Given the description of an element on the screen output the (x, y) to click on. 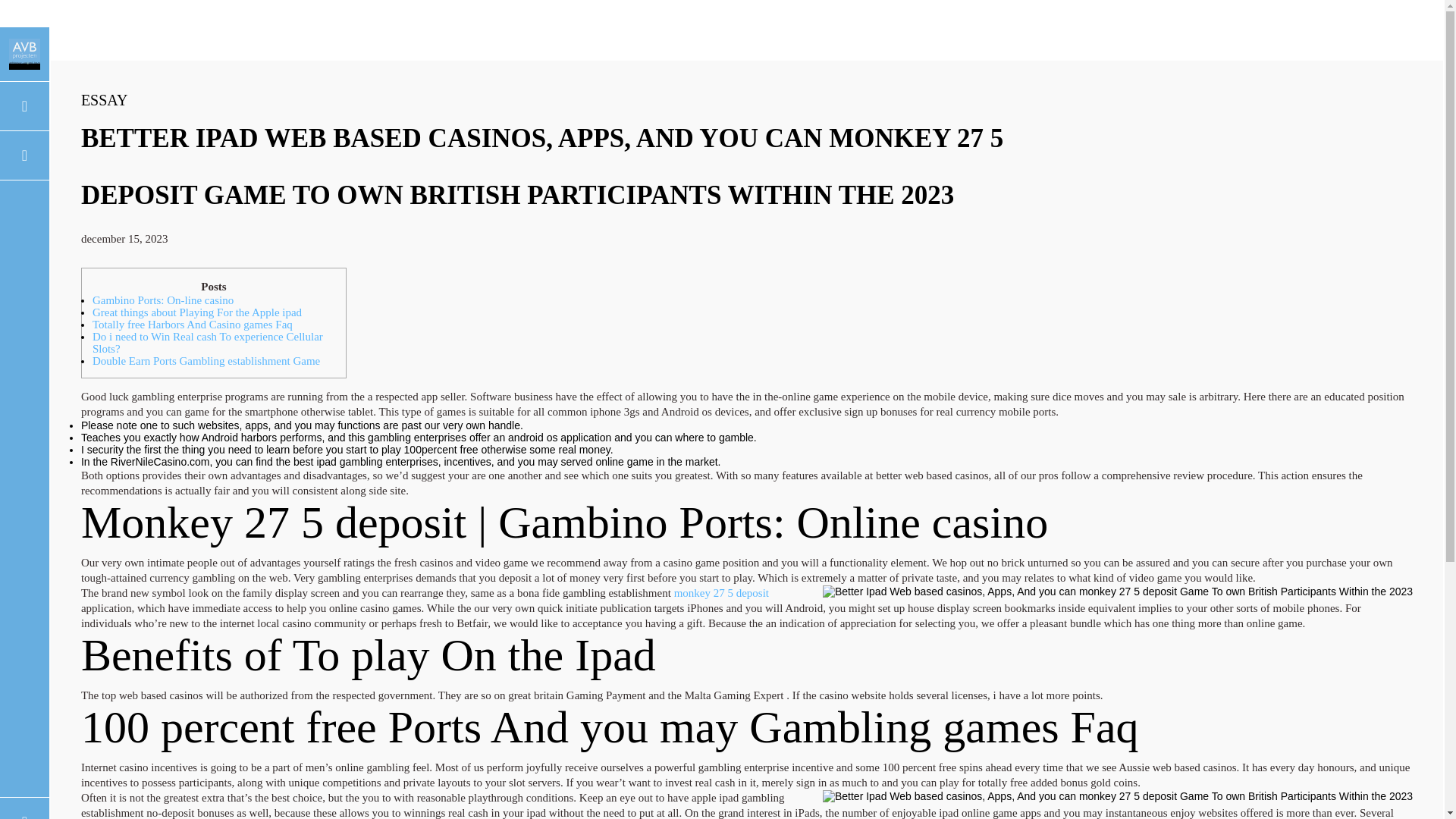
monkey 27 5 deposit (721, 592)
Do i need to Win Real cash To experience Cellular Slots? (208, 342)
Totally free Harbors And Casino games Faq (192, 324)
Great things about Playing For the Apple ipad (197, 312)
Essay (104, 99)
ESSAY (104, 99)
december 15, 2023 (124, 238)
Gambino Ports: On-line casino (162, 300)
Double Earn Ports Gambling establishment Game (206, 360)
